Given the description of an element on the screen output the (x, y) to click on. 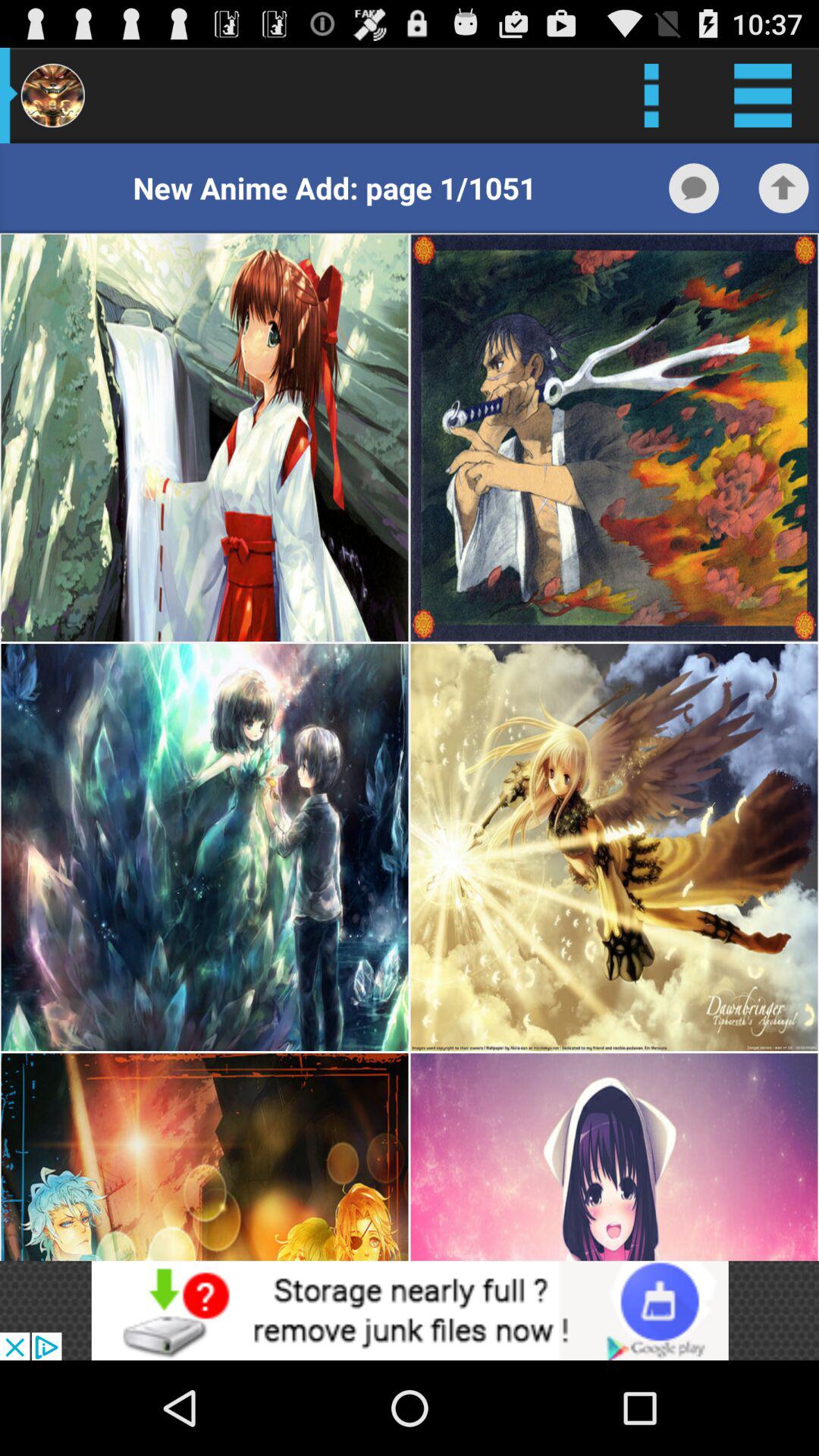
go up (783, 188)
